Given the description of an element on the screen output the (x, y) to click on. 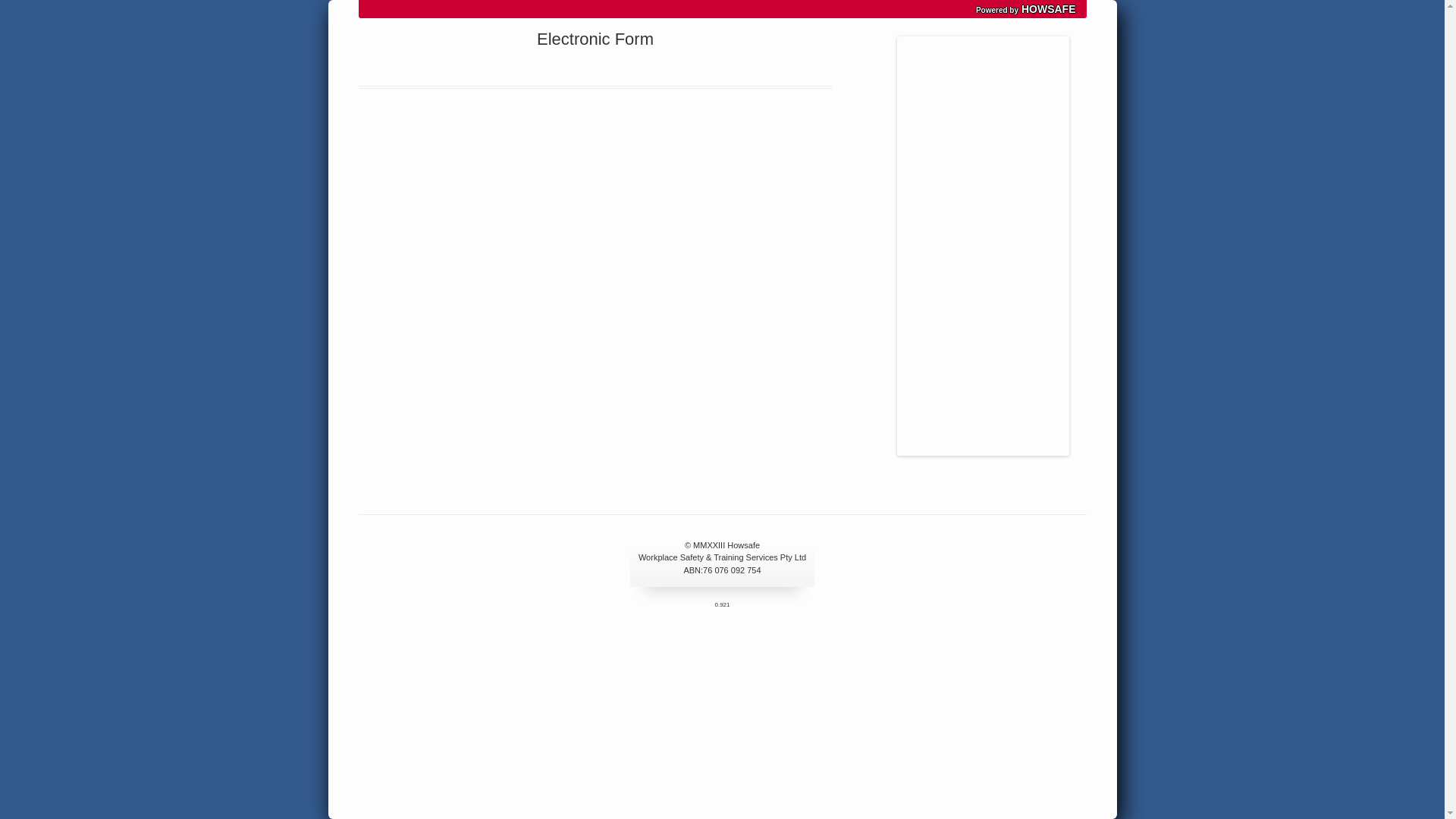
Powered by HOWSAFE Element type: text (721, 9)
